Given the description of an element on the screen output the (x, y) to click on. 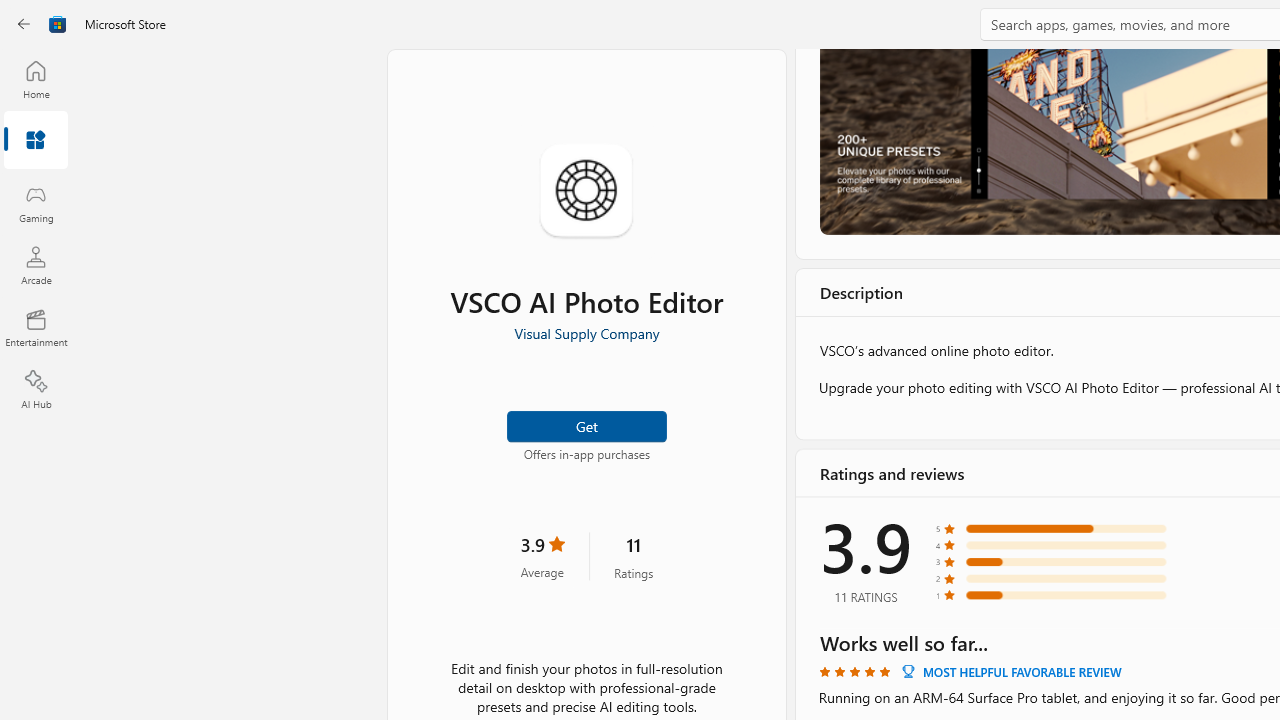
Back (24, 24)
Get (586, 424)
3.9 stars. Click to skip to ratings and reviews (542, 556)
Visual Supply Company (586, 333)
